Given the description of an element on the screen output the (x, y) to click on. 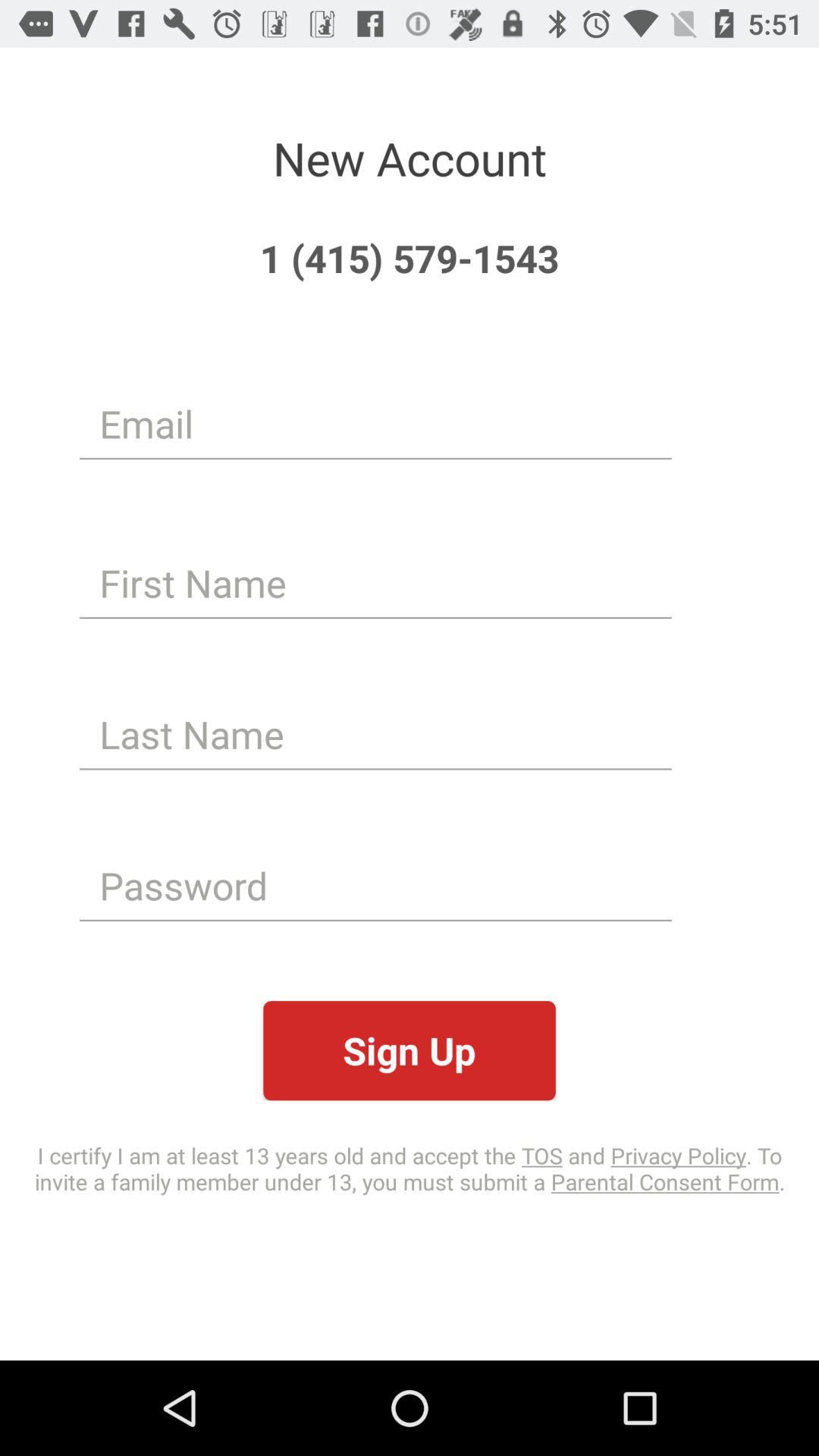
open icon below 1 415 579 item (375, 423)
